Given the description of an element on the screen output the (x, y) to click on. 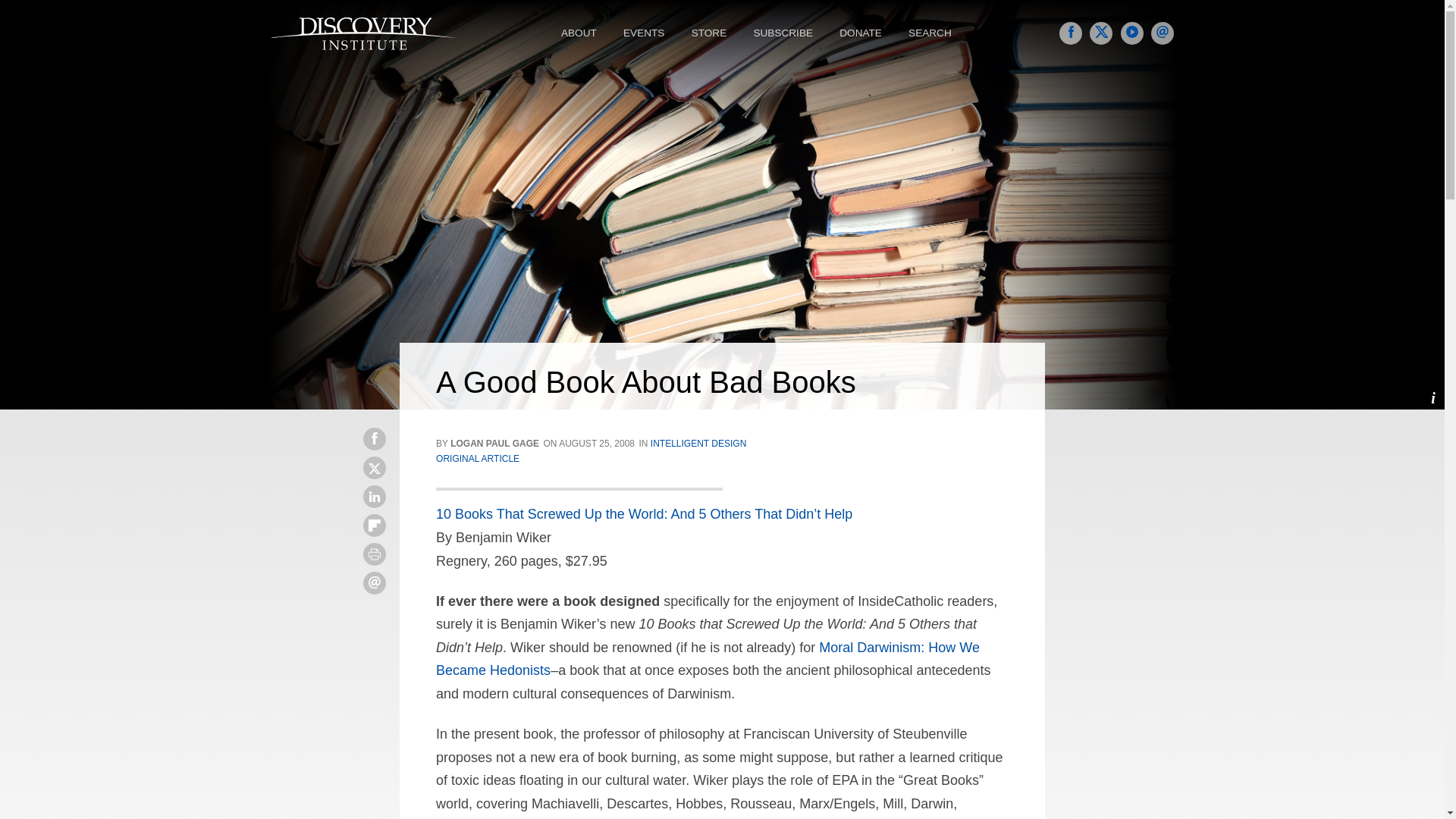
ABOUT (580, 32)
ORIGINAL ARTICLE (477, 458)
DONATE (862, 32)
SEARCH (931, 32)
INTELLIGENT DESIGN (697, 443)
EVENTS (645, 32)
Moral Darwinism: How We Became Hedonists (707, 658)
STORE (710, 32)
SUBSCRIBE (784, 32)
